Given the description of an element on the screen output the (x, y) to click on. 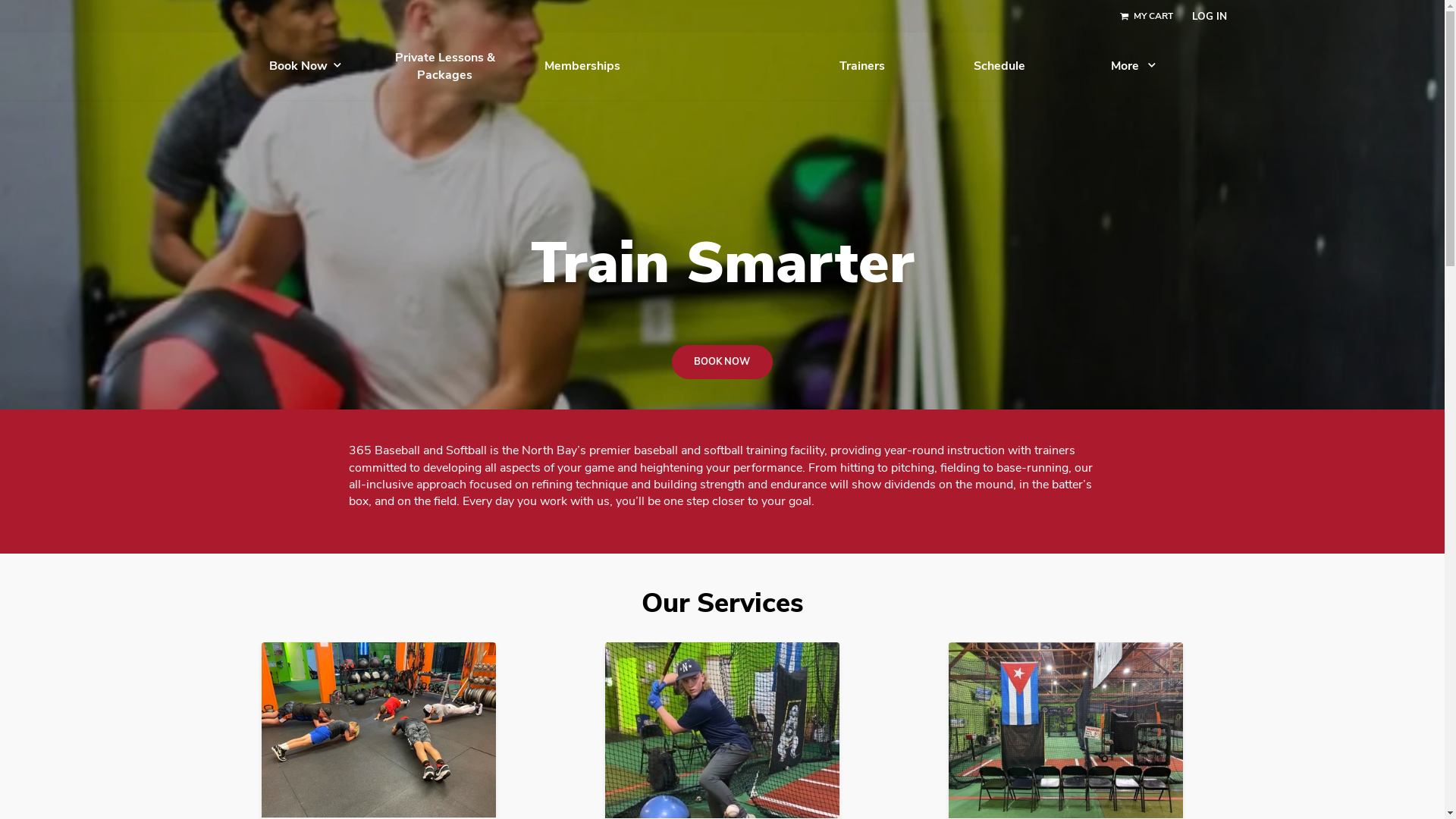
Schedule Element type: text (1249, 82)
Memberships Element type: text (727, 82)
Trainers Element type: text (1077, 82)
BOOK NOW Element type: text (902, 452)
Private Lessons & Packages Element type: text (555, 82)
